Given the description of an element on the screen output the (x, y) to click on. 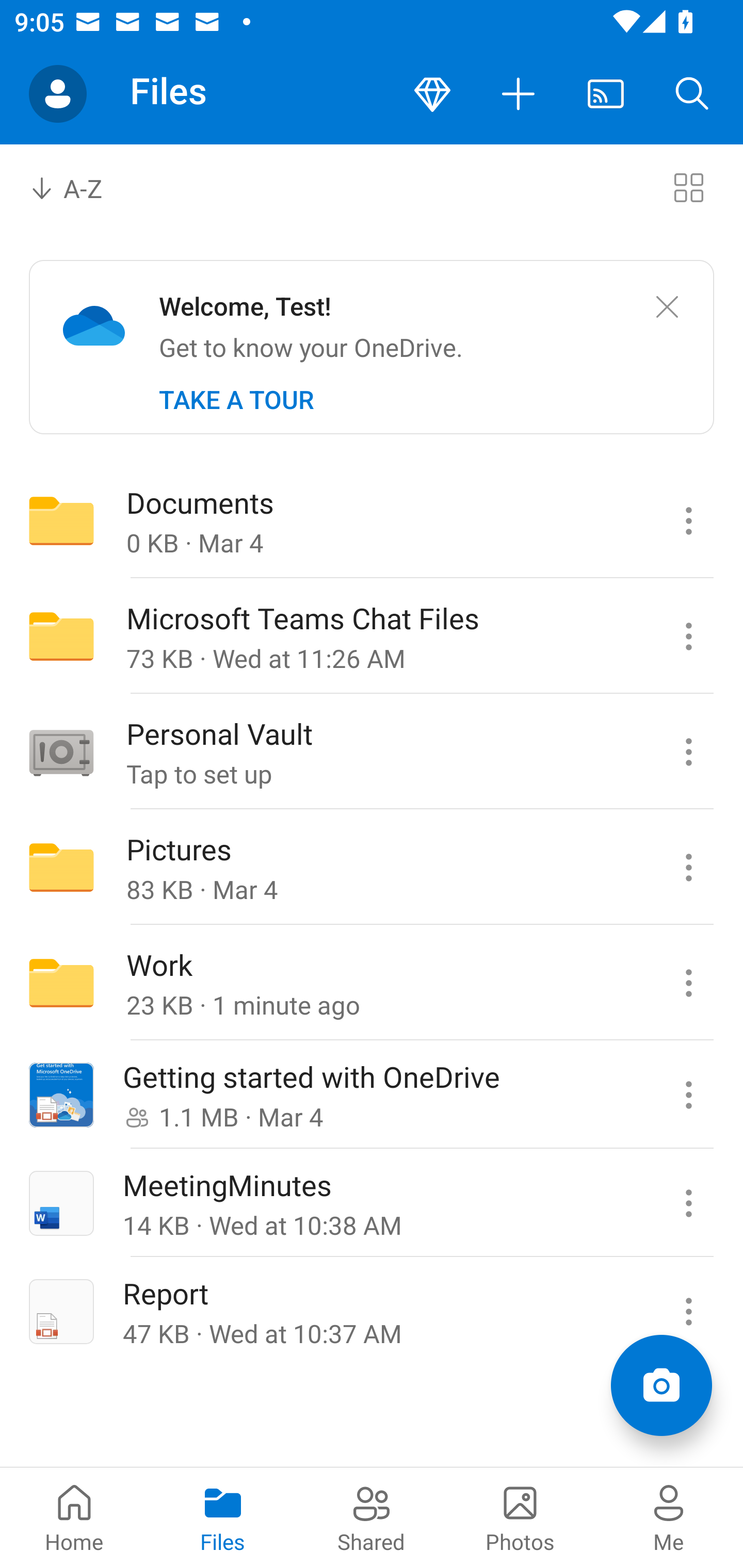
Account switcher (57, 93)
Cast. Disconnected (605, 93)
Premium button (432, 93)
More actions button (518, 93)
Search button (692, 93)
A-Z Sort by combo box, sort by name, A to Z (80, 187)
Switch to tiles view (688, 187)
Close (667, 307)
TAKE A TOUR (236, 399)
Folder Documents 0 KB · Mar 4 Documents commands (371, 520)
Documents commands (688, 520)
Microsoft Teams Chat Files commands (688, 636)
Personal Vault commands (688, 751)
Folder Pictures 83 KB · Mar 4 Pictures commands (371, 867)
Pictures commands (688, 867)
Folder Work 23 KB · 1 minute ago Work commands (371, 983)
Work commands (688, 983)
Getting started with OneDrive commands (688, 1095)
MeetingMinutes commands (688, 1203)
Report commands (688, 1311)
Add items Scan (660, 1385)
Home pivot Home (74, 1517)
Shared pivot Shared (371, 1517)
Photos pivot Photos (519, 1517)
Me pivot Me (668, 1517)
